Given the description of an element on the screen output the (x, y) to click on. 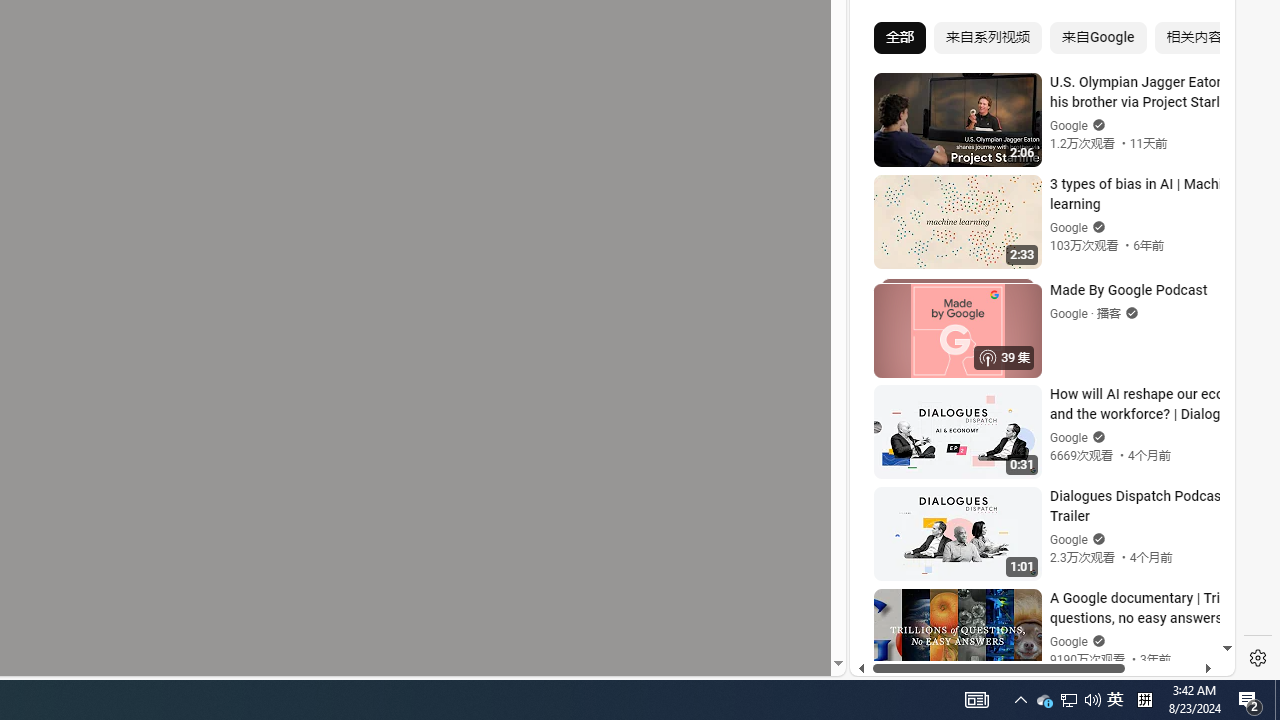
YouTube - YouTube (1034, 266)
Class: dict_pnIcon rms_img (1028, 660)
you (1034, 609)
Global web icon (888, 432)
US[ju] (917, 660)
